Given the description of an element on the screen output the (x, y) to click on. 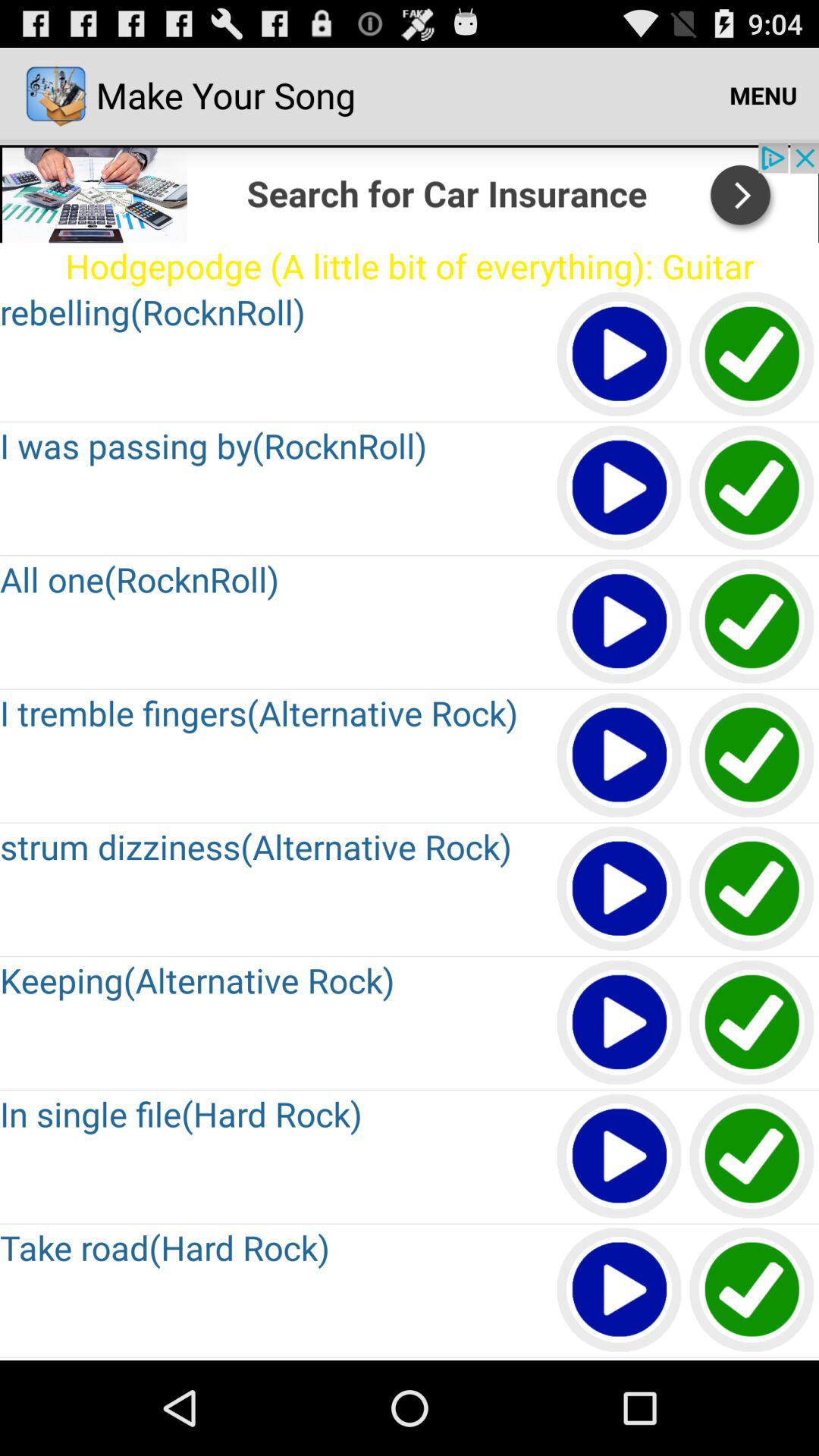
paly (619, 354)
